Given the description of an element on the screen output the (x, y) to click on. 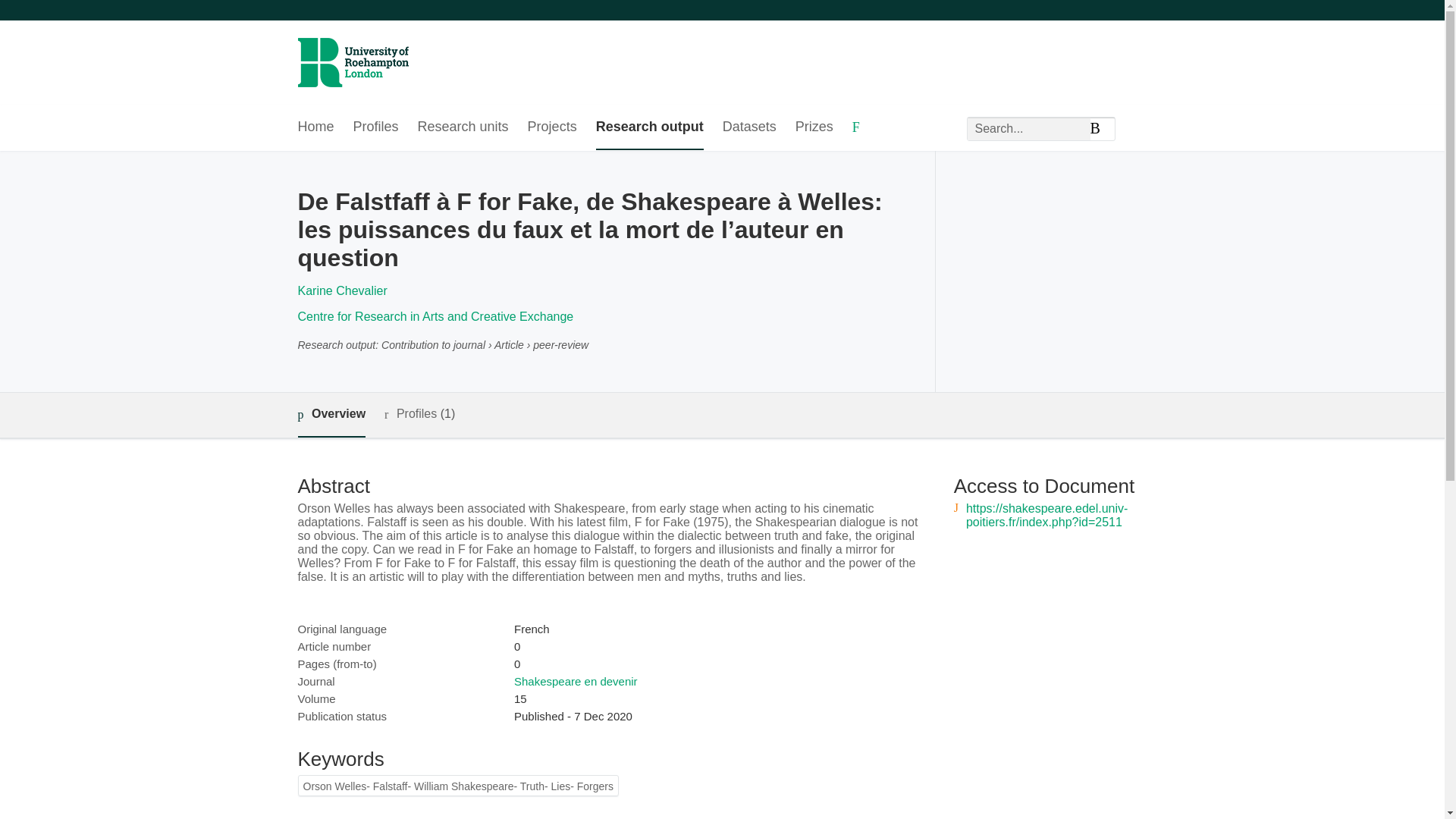
Profiles (375, 127)
Shakespeare en devenir (575, 680)
Research output (649, 127)
Projects (551, 127)
Research units (462, 127)
Overview (331, 415)
Centre for Research in Arts and Creative Exchange (435, 316)
Karine Chevalier (342, 290)
University of Roehampton Research Explorer Home (352, 52)
Datasets (749, 127)
